Given the description of an element on the screen output the (x, y) to click on. 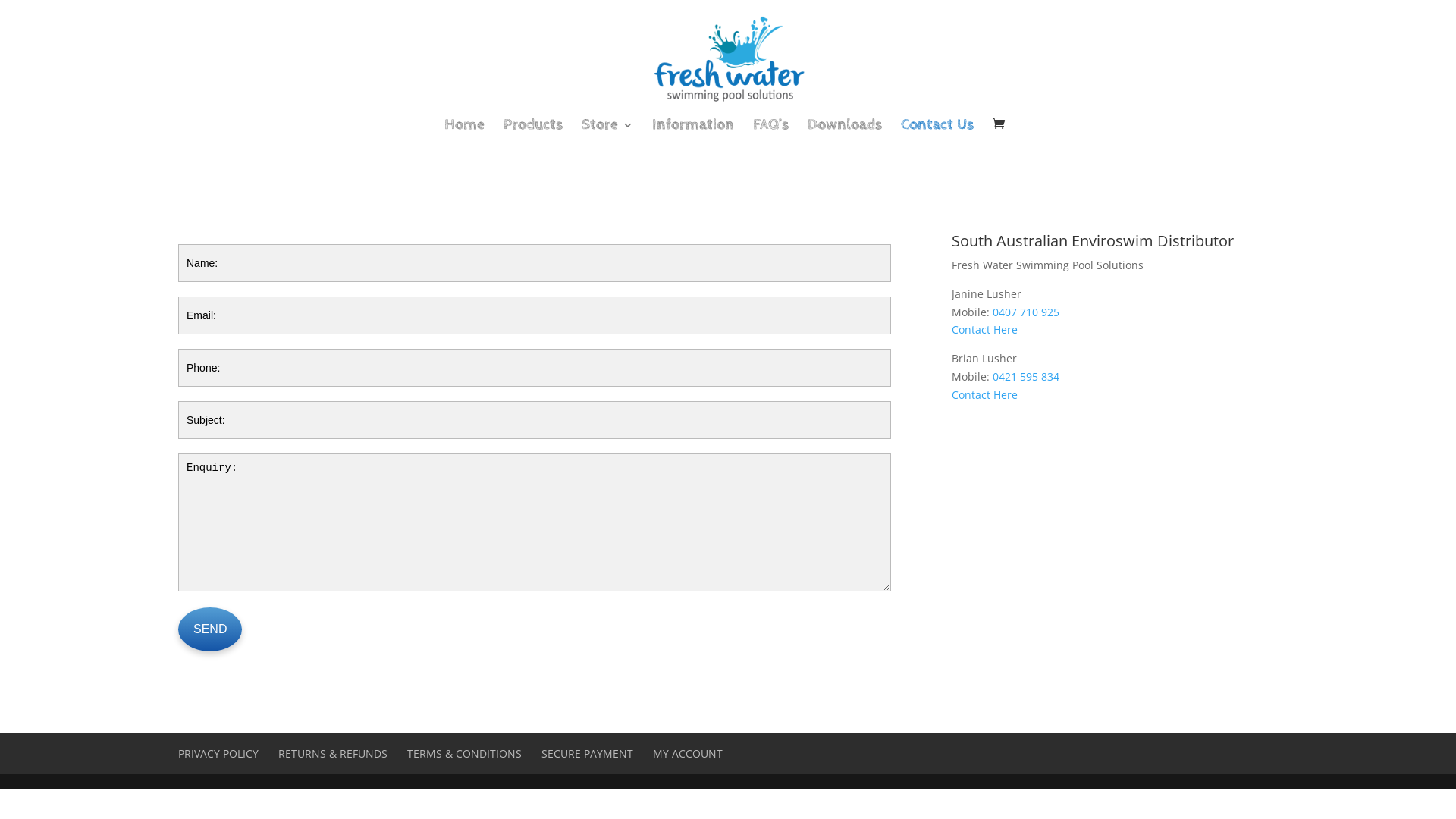
PRIVACY POLICY Element type: text (218, 753)
0421 595 834 Element type: text (1025, 376)
Contact Here Element type: text (984, 329)
Contact Here Element type: text (984, 394)
Send Element type: text (209, 629)
Home Element type: text (464, 135)
Store Element type: text (606, 135)
TERMS & CONDITIONS Element type: text (464, 753)
Information Element type: text (693, 135)
MY ACCOUNT Element type: text (687, 753)
SECURE PAYMENT Element type: text (587, 753)
0407 710 925 Element type: text (1025, 311)
Contact Us Element type: text (936, 135)
Downloads Element type: text (843, 135)
Products Element type: text (532, 135)
RETURNS & REFUNDS Element type: text (332, 753)
